Given the description of an element on the screen output the (x, y) to click on. 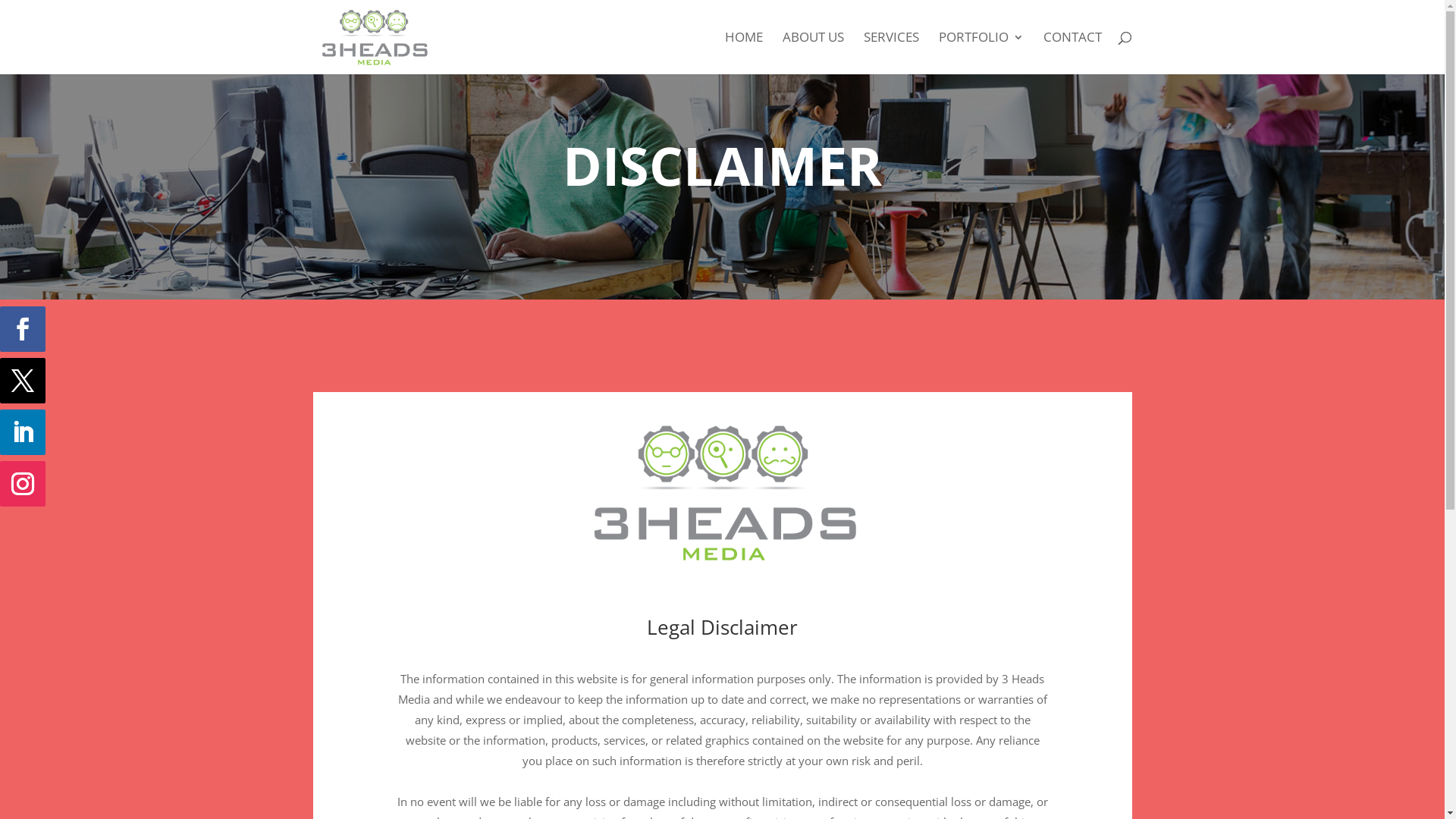
ABOUT US Element type: text (813, 52)
SERVICES Element type: text (890, 52)
Follow on Facebook Element type: hover (22, 328)
Follow on Instagram Element type: hover (22, 483)
CONTACT Element type: text (1072, 52)
PORTFOLIO Element type: text (980, 52)
Follow on LinkedIn Element type: hover (22, 432)
Asset 4 Element type: hover (722, 491)
HOME Element type: text (743, 52)
Follow on X Element type: hover (22, 380)
